Given the description of an element on the screen output the (x, y) to click on. 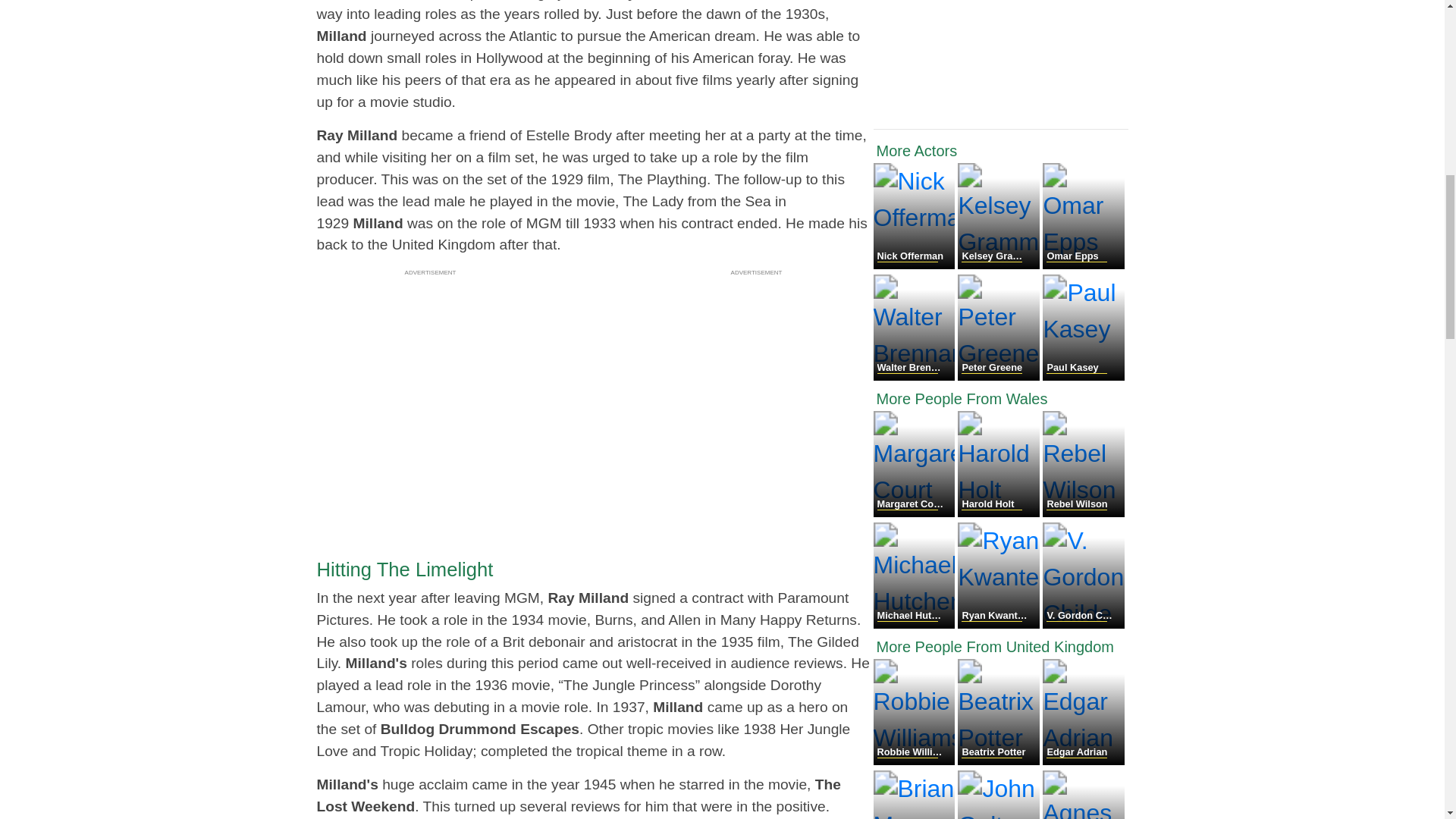
V. Gordon Childe (1083, 624)
Beatrix Potter (1000, 760)
More People From United Kingdom (1000, 647)
Kelsey Grammer (1000, 264)
Peter Greene (1000, 376)
Ryan Kwanten (1000, 624)
Omar Epps (1083, 264)
Paul Kasey (1083, 376)
More Actors (1000, 150)
Walter Brennan (915, 376)
More People From Wales (1000, 398)
Robbie Williams (915, 760)
Margaret Court (915, 512)
Michael Hutchence (915, 624)
Nick Offerman (915, 264)
